Given the description of an element on the screen output the (x, y) to click on. 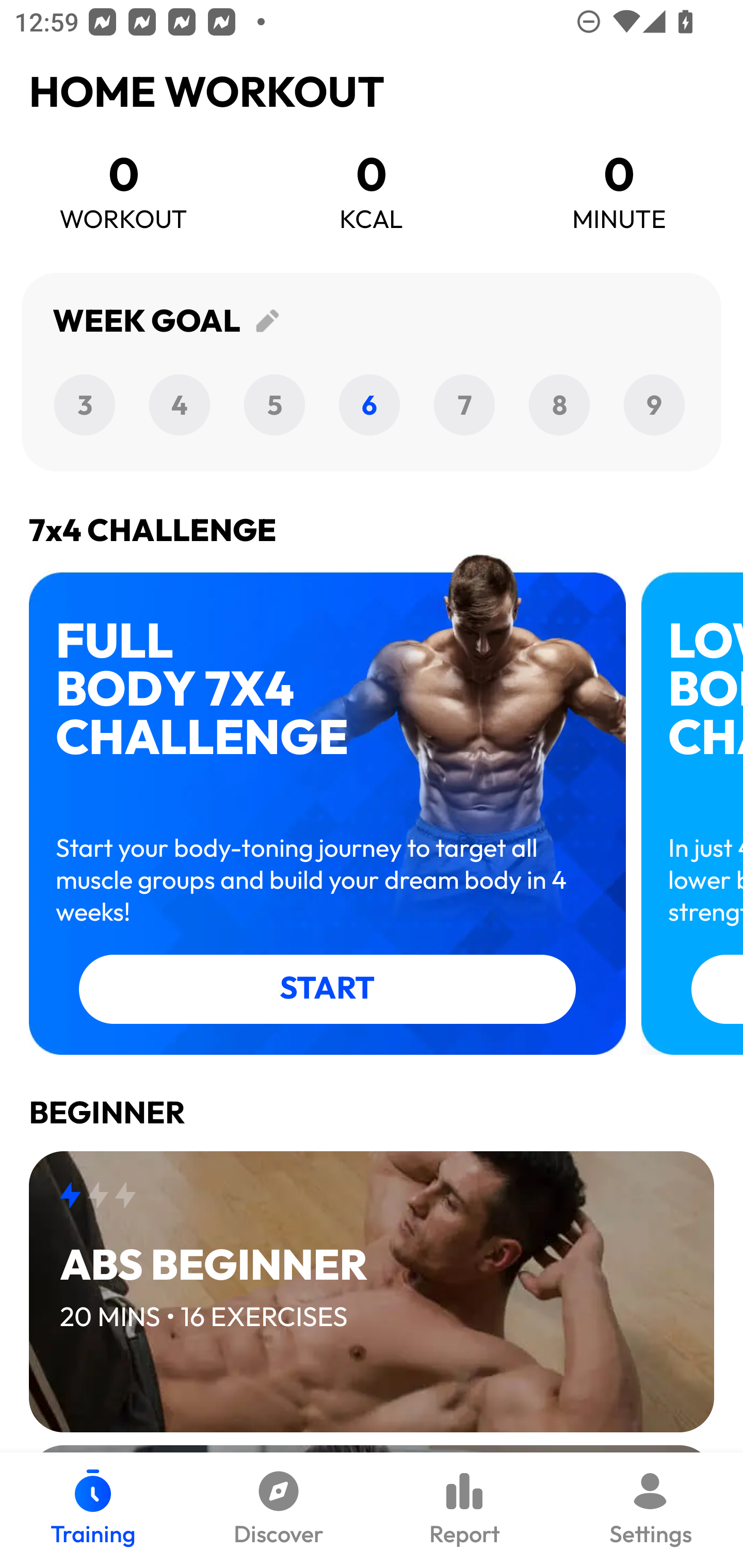
0 WORKOUT 0 KCAL 0 MINUTE (371, 204)
WEEK GOAL (371, 371)
START (326, 988)
ABS BEGINNER 20 MINS • 16 EXERCISES (371, 1290)
